Given the description of an element on the screen output the (x, y) to click on. 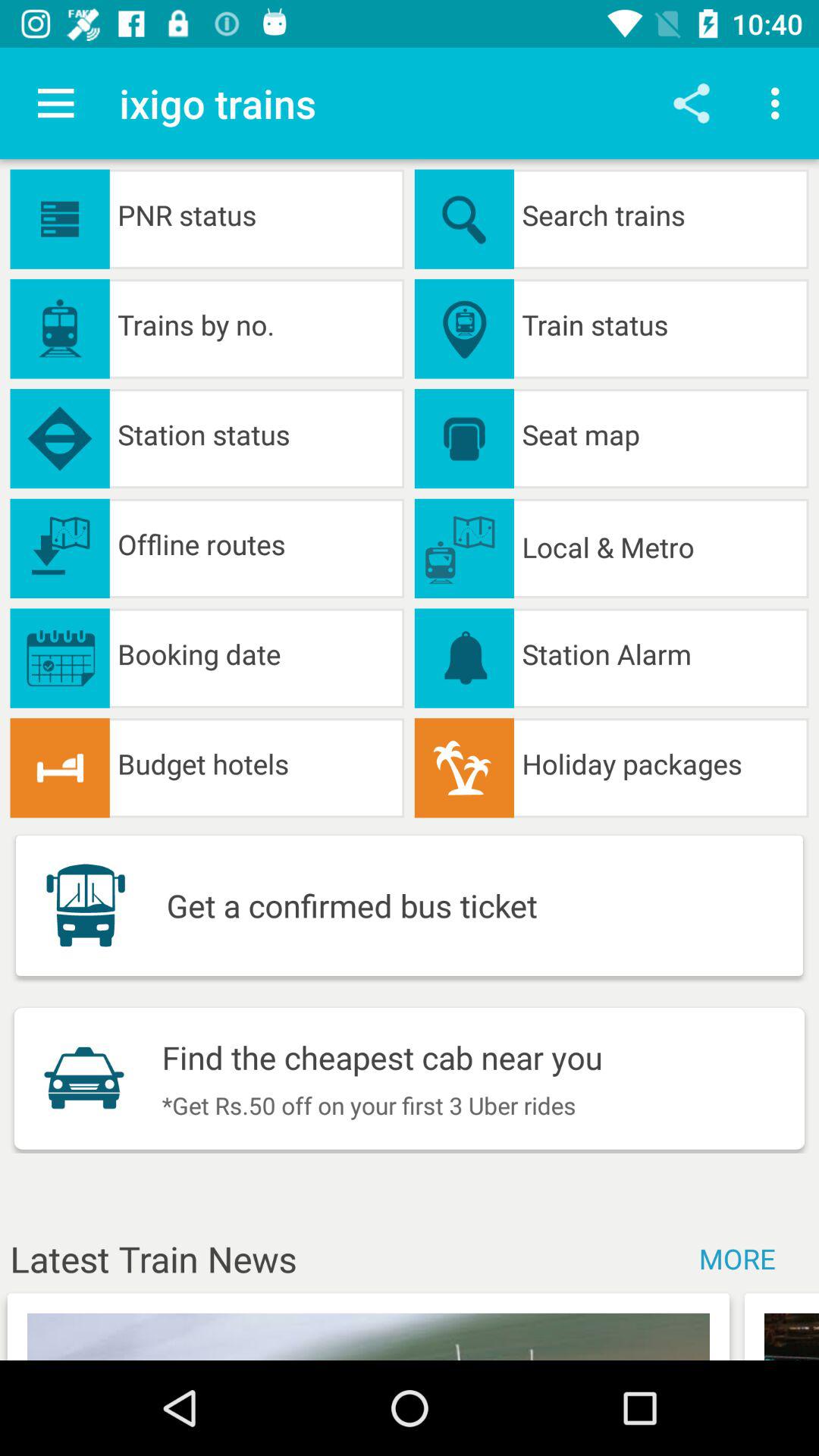
open icon next to ixigo trains app (691, 103)
